Given the description of an element on the screen output the (x, y) to click on. 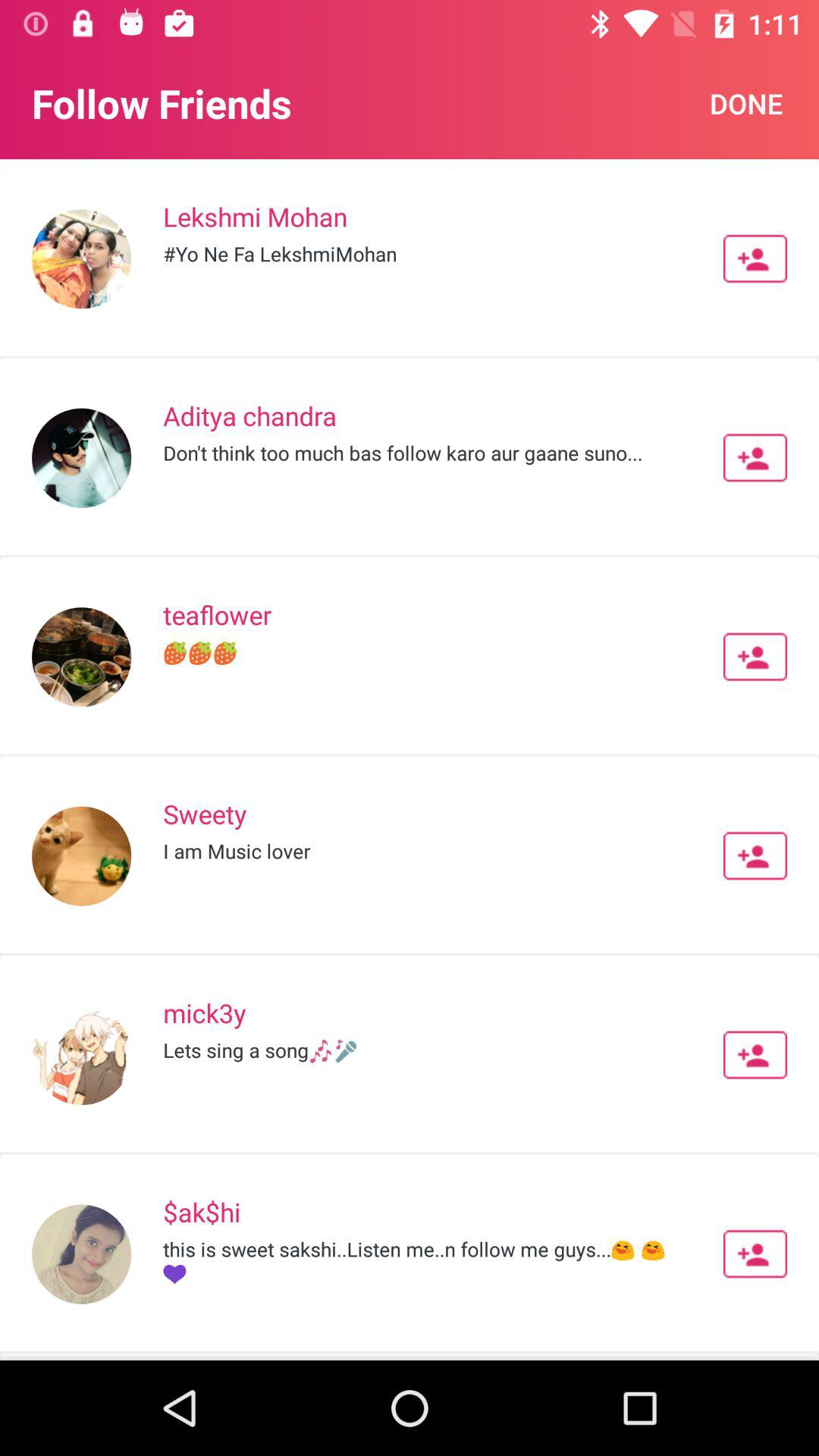
send a friend request (755, 1253)
